Given the description of an element on the screen output the (x, y) to click on. 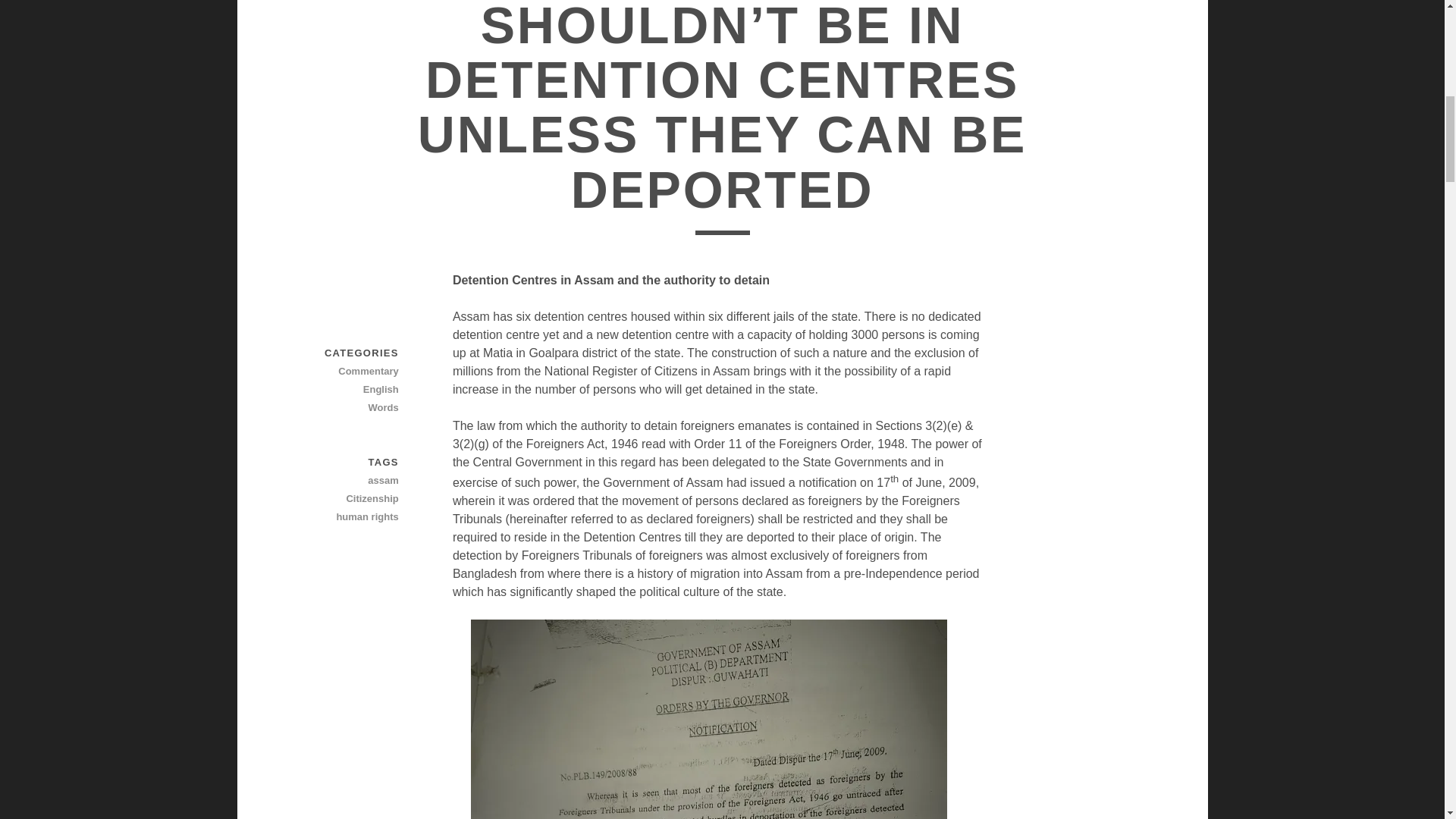
assam (344, 480)
human rights (344, 516)
English (344, 389)
View all posts in English (344, 389)
Citizenship (344, 498)
View all posts in Words (344, 407)
Words (344, 407)
Commentary (344, 371)
View all posts in Commentary (344, 371)
